Given the description of an element on the screen output the (x, y) to click on. 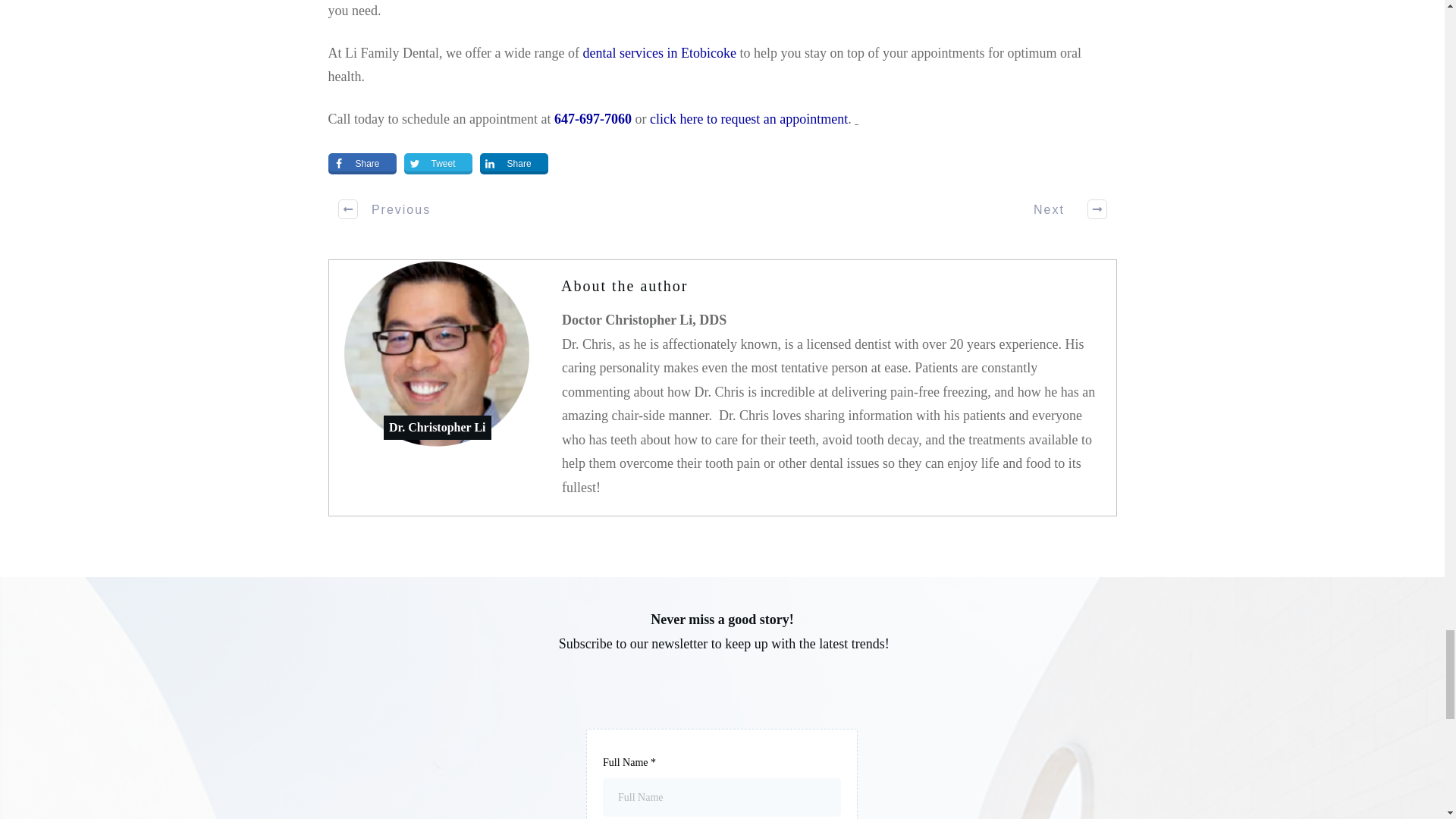
647-697-7060 (592, 118)
Share (361, 163)
click here to request an appointment (748, 118)
dental services in Etobicoke (659, 52)
